Given the description of an element on the screen output the (x, y) to click on. 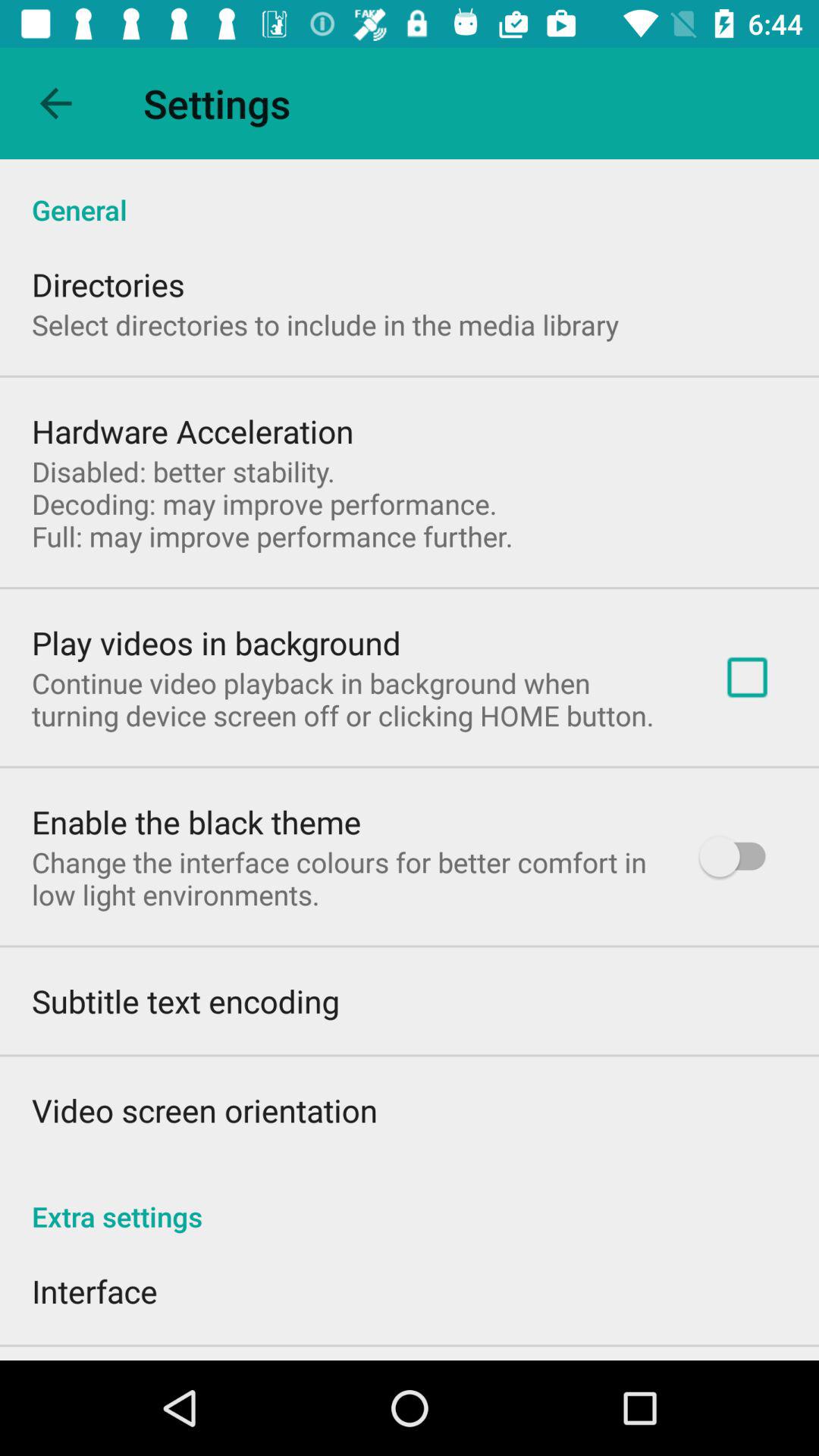
tap icon below the play videos in (353, 699)
